Given the description of an element on the screen output the (x, y) to click on. 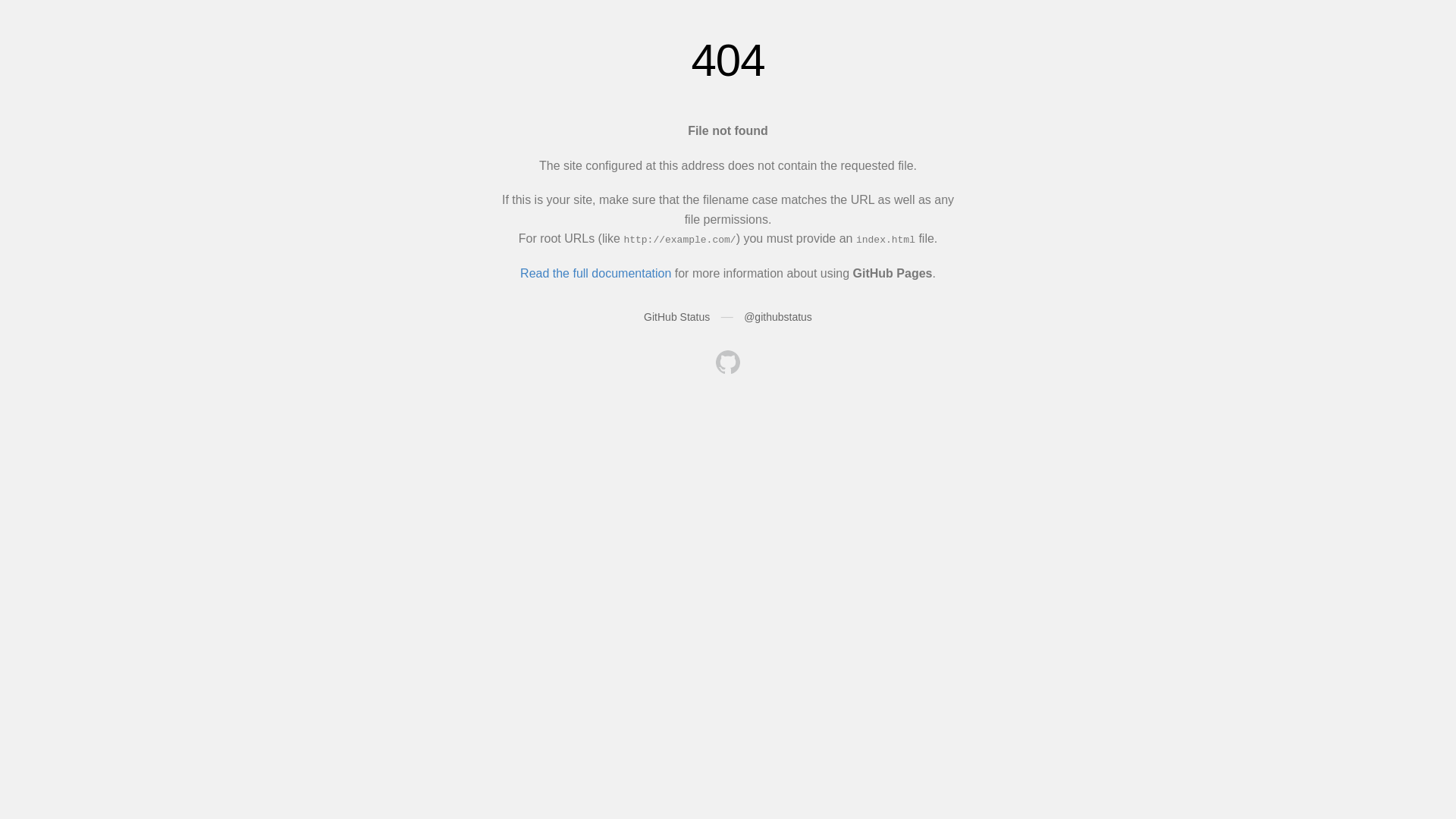
@githubstatus Element type: text (777, 316)
Read the full documentation Element type: text (595, 272)
GitHub Status Element type: text (676, 316)
